Given the description of an element on the screen output the (x, y) to click on. 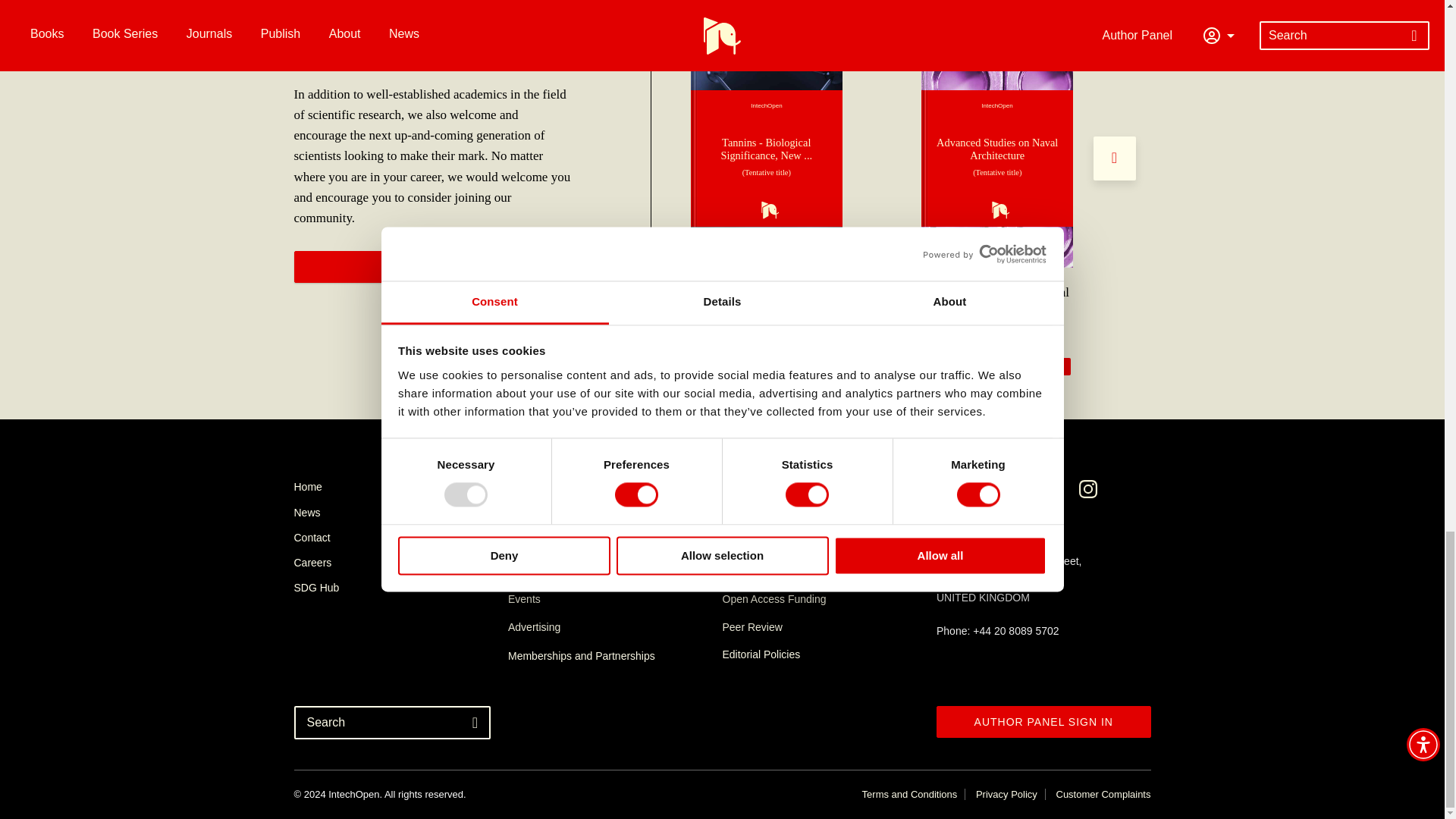
IntechOpen (766, 158)
IntechOpen (997, 158)
